Given the description of an element on the screen output the (x, y) to click on. 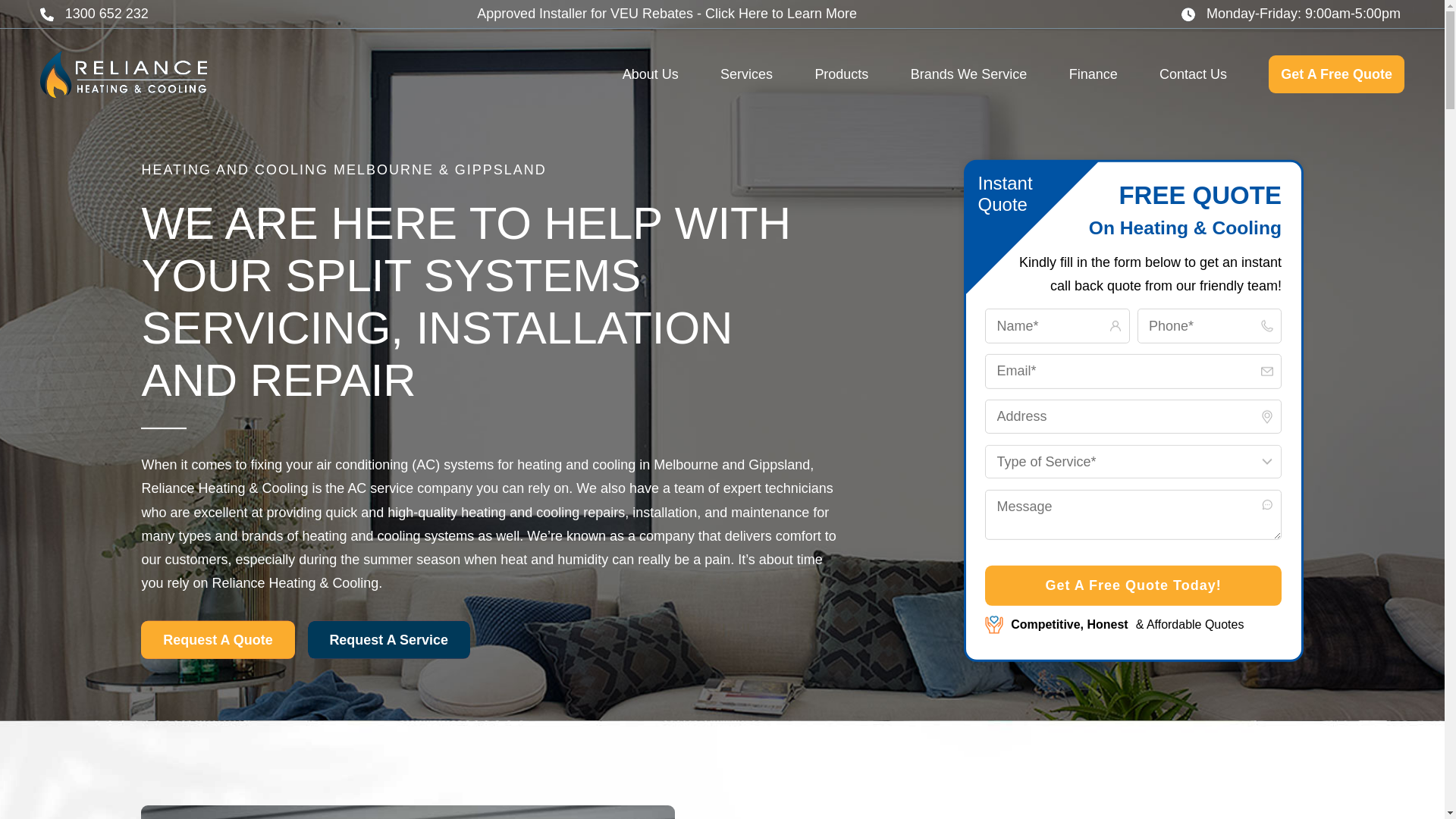
Click Here to Learn More (780, 13)
About Us (650, 76)
Services (746, 76)
Get A Free Quote Today! (1133, 585)
1300 652 232 (94, 14)
